Given the description of an element on the screen output the (x, y) to click on. 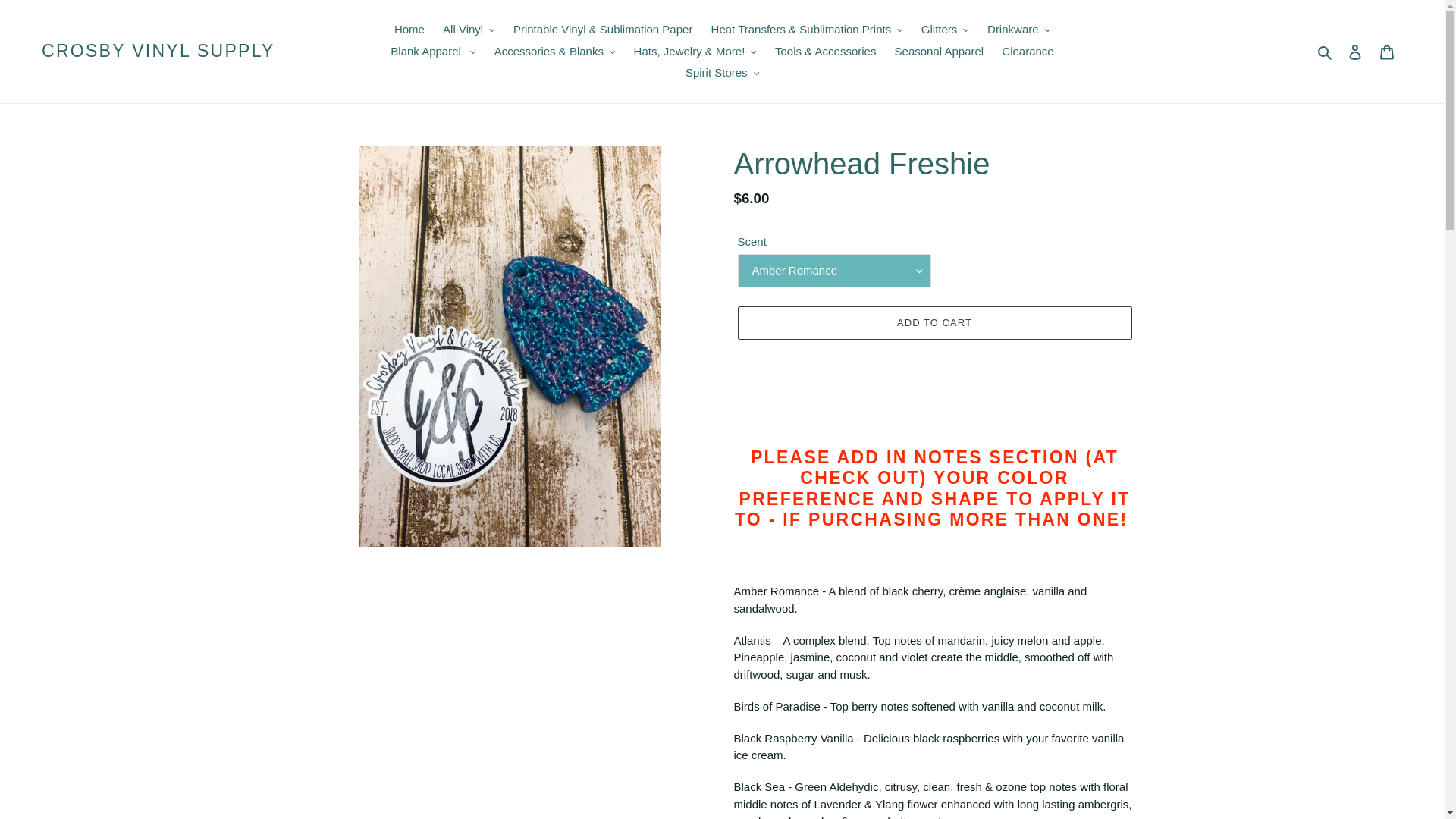
Home (409, 29)
All Vinyl (468, 29)
CROSBY VINYL SUPPLY (158, 51)
